Given the description of an element on the screen output the (x, y) to click on. 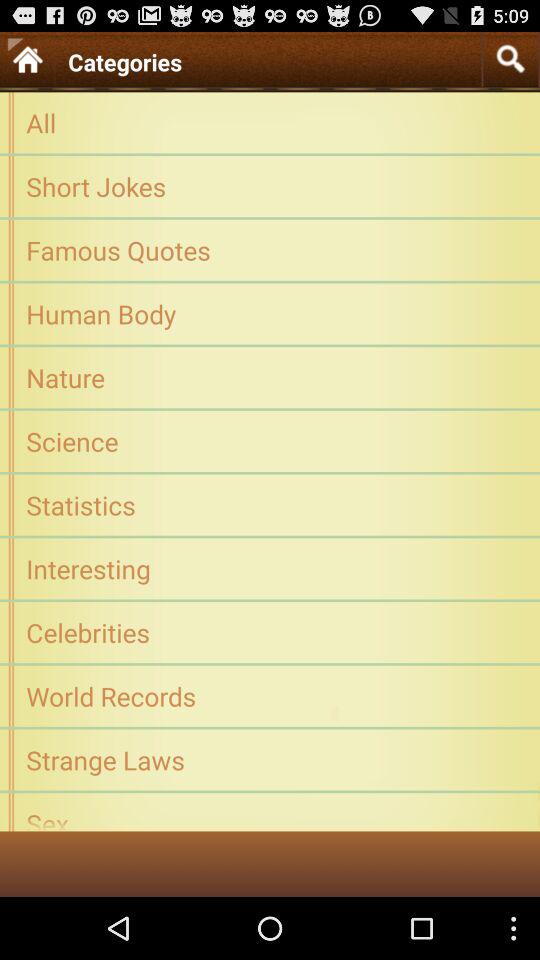
home navigation button (27, 58)
